Given the description of an element on the screen output the (x, y) to click on. 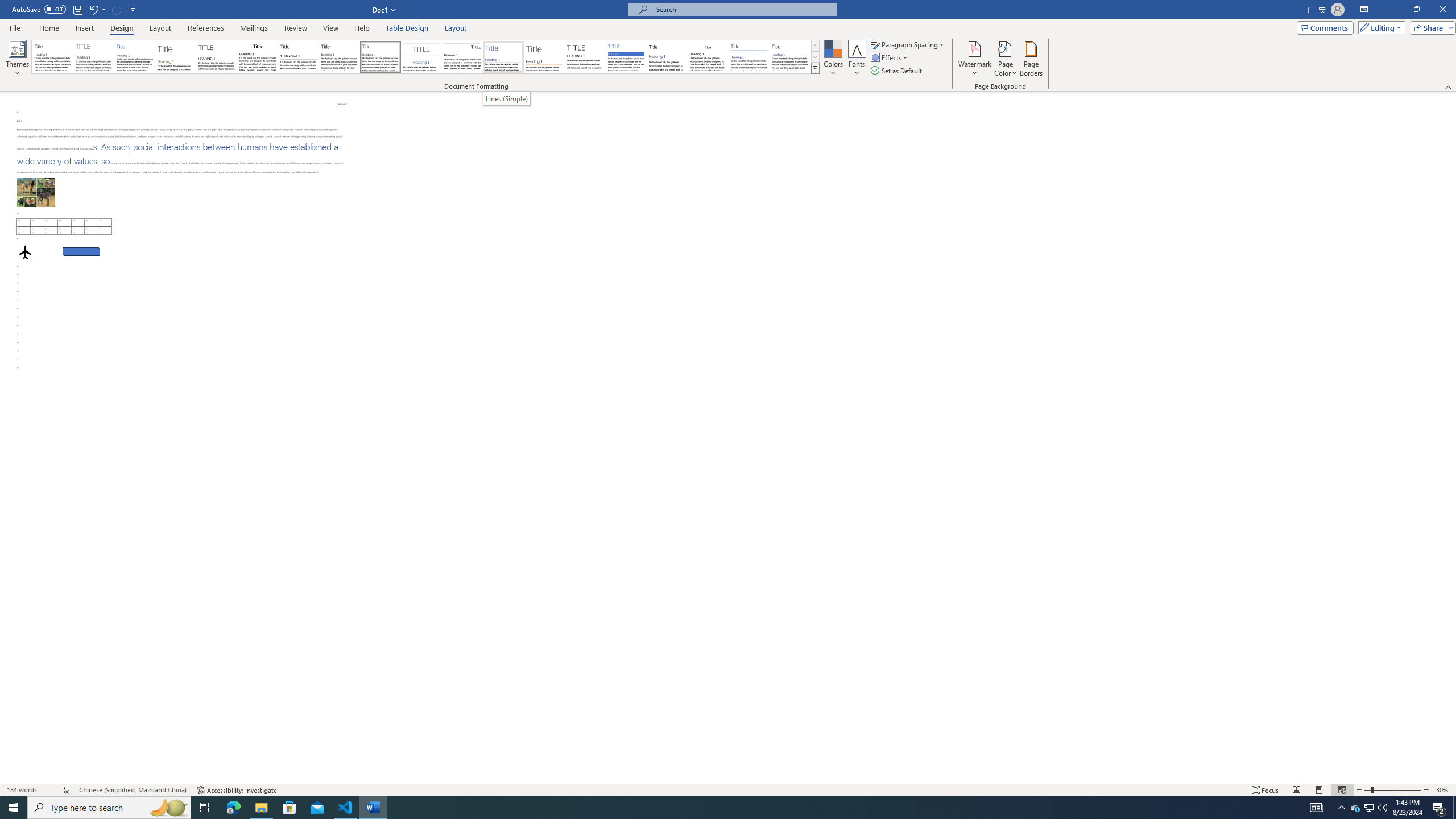
Colors (832, 58)
Set as Default (897, 69)
Word (666, 56)
Basic (Elegant) (93, 56)
Basic (Simple) (135, 56)
Word 2010 (749, 56)
